Given the description of an element on the screen output the (x, y) to click on. 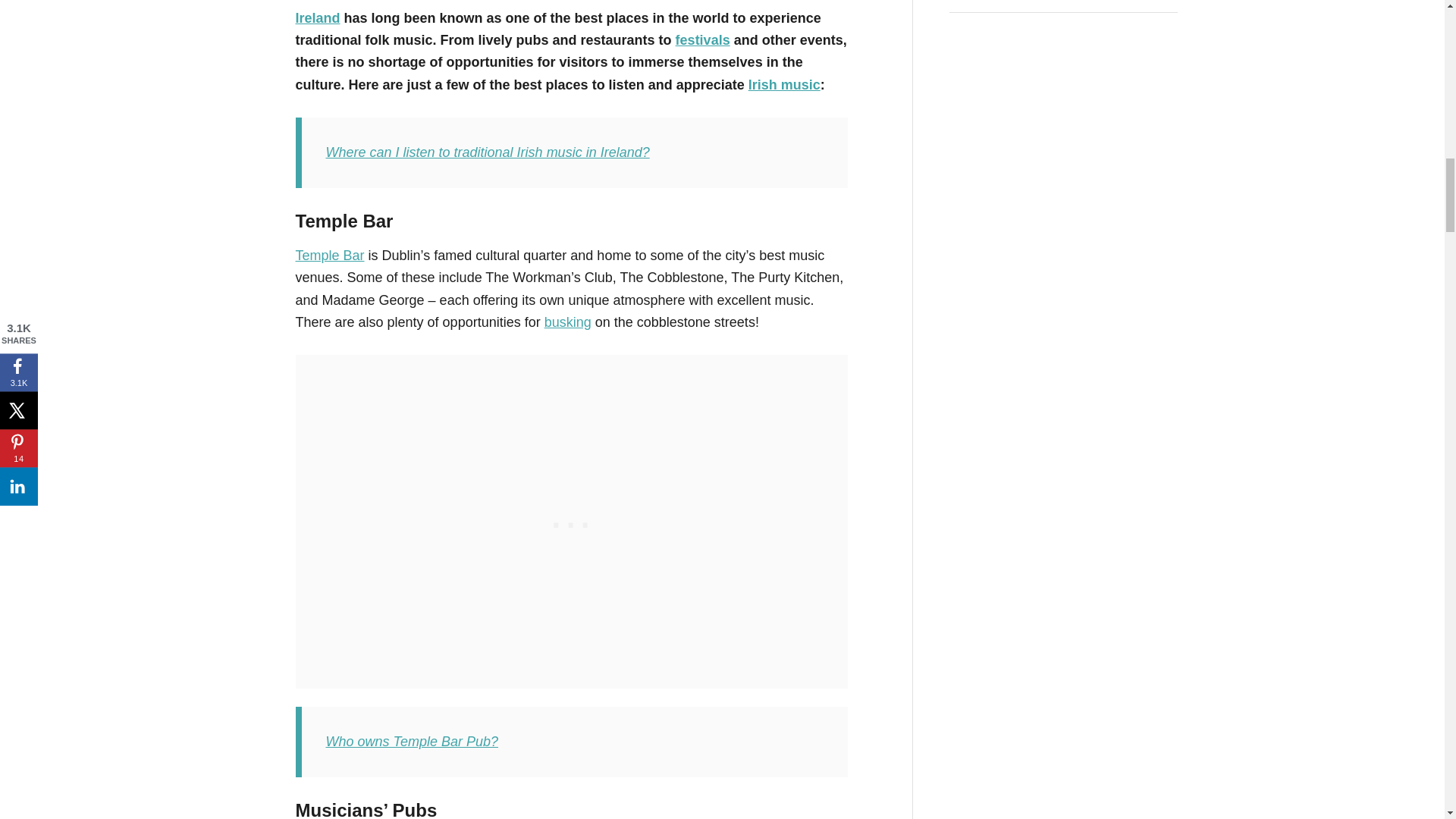
Ireland (317, 17)
Where can I listen to traditional Irish music in Ireland? (487, 151)
festivals (702, 39)
Irish music (784, 84)
busking (567, 322)
Temple Bar (330, 255)
Who owns Temple Bar Pub? (411, 741)
